Given the description of an element on the screen output the (x, y) to click on. 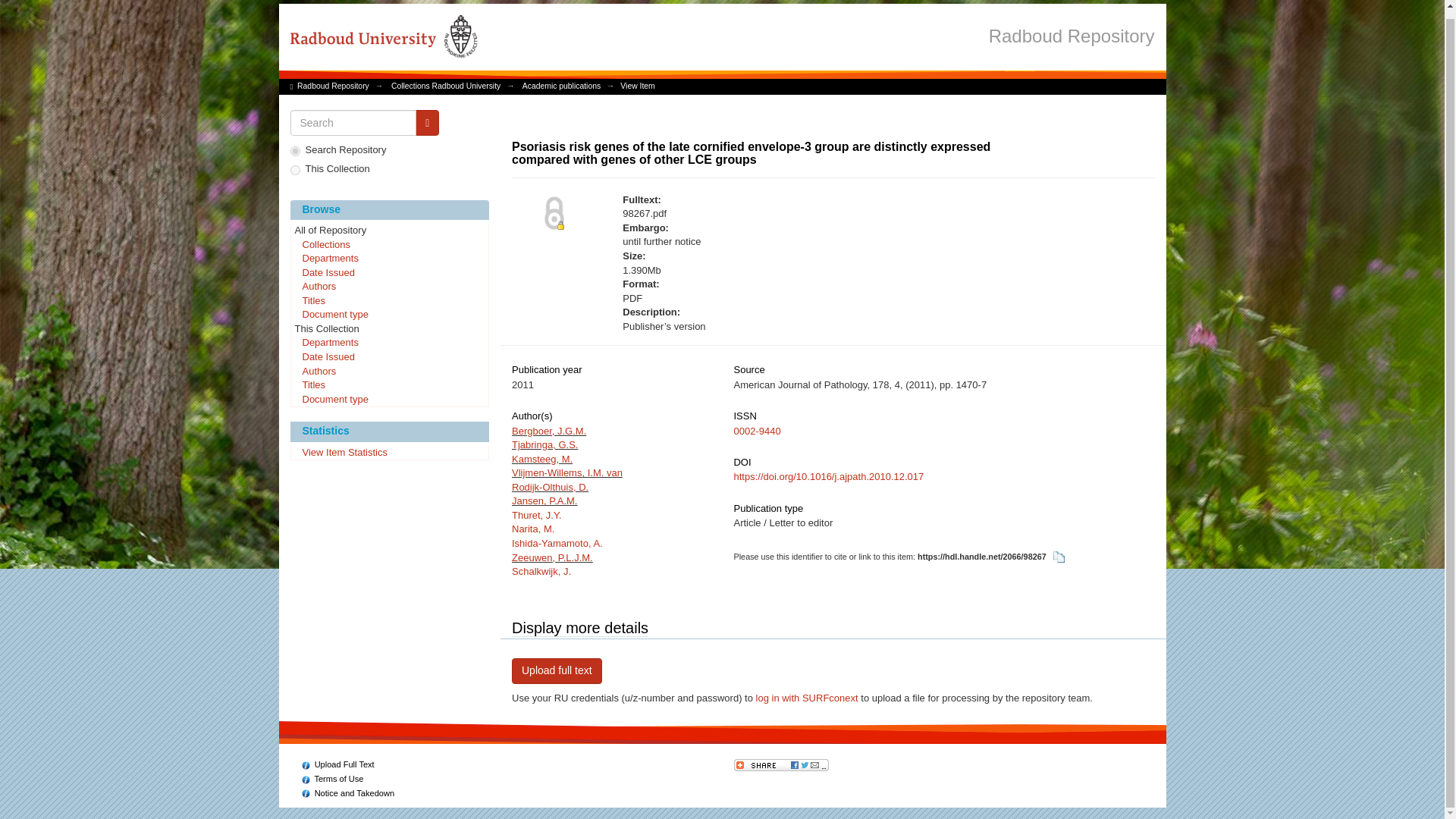
Kamsteeg, M. (542, 459)
98267.pdf (778, 214)
Narita, M. (533, 528)
Authors (389, 287)
Zeeuwen, P.L.J.M. (552, 557)
Thuret, J.Y. (537, 514)
Bergboer, J.G.M. (549, 430)
All of Repository (389, 231)
Titles (389, 385)
Authors (389, 372)
